Given the description of an element on the screen output the (x, y) to click on. 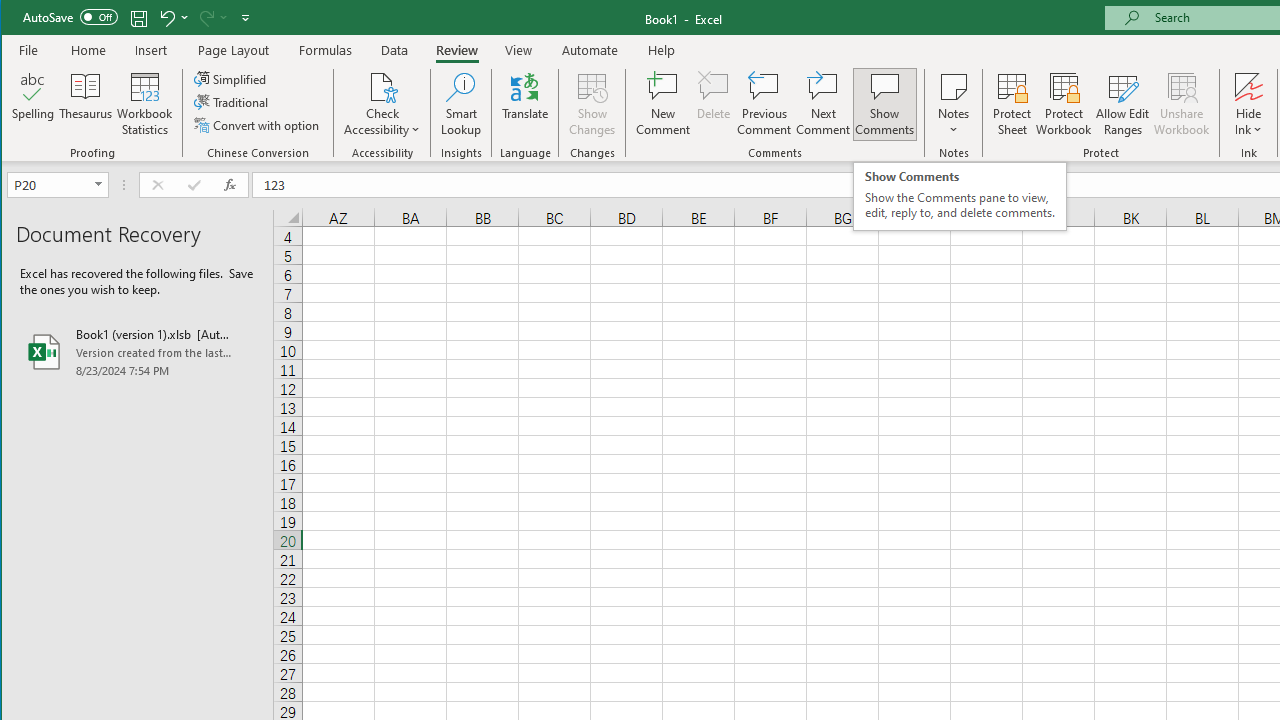
Traditional (232, 101)
Convert with option (258, 124)
